Given the description of an element on the screen output the (x, y) to click on. 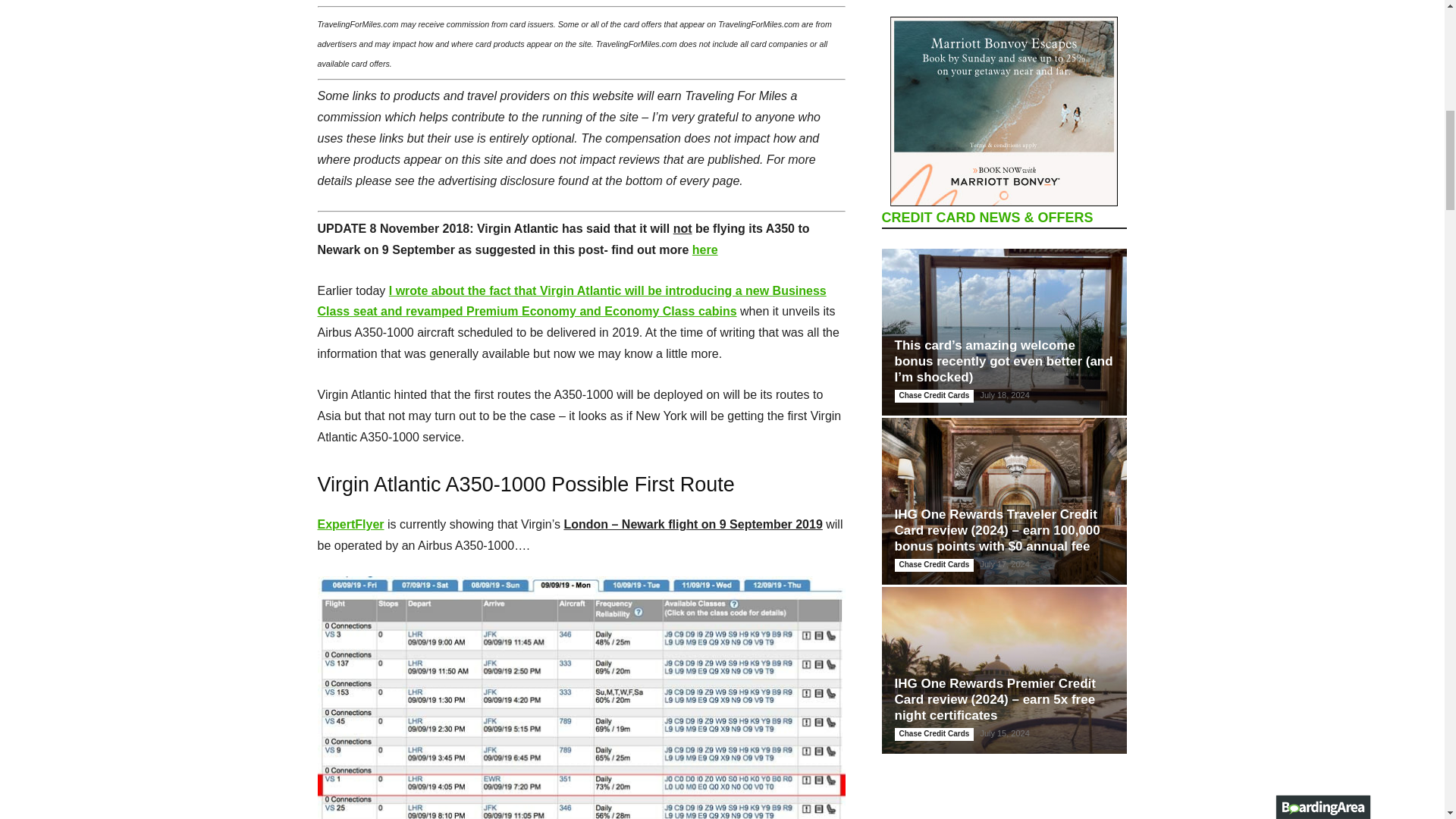
ExpertFlyer (350, 523)
here (705, 249)
